Given the description of an element on the screen output the (x, y) to click on. 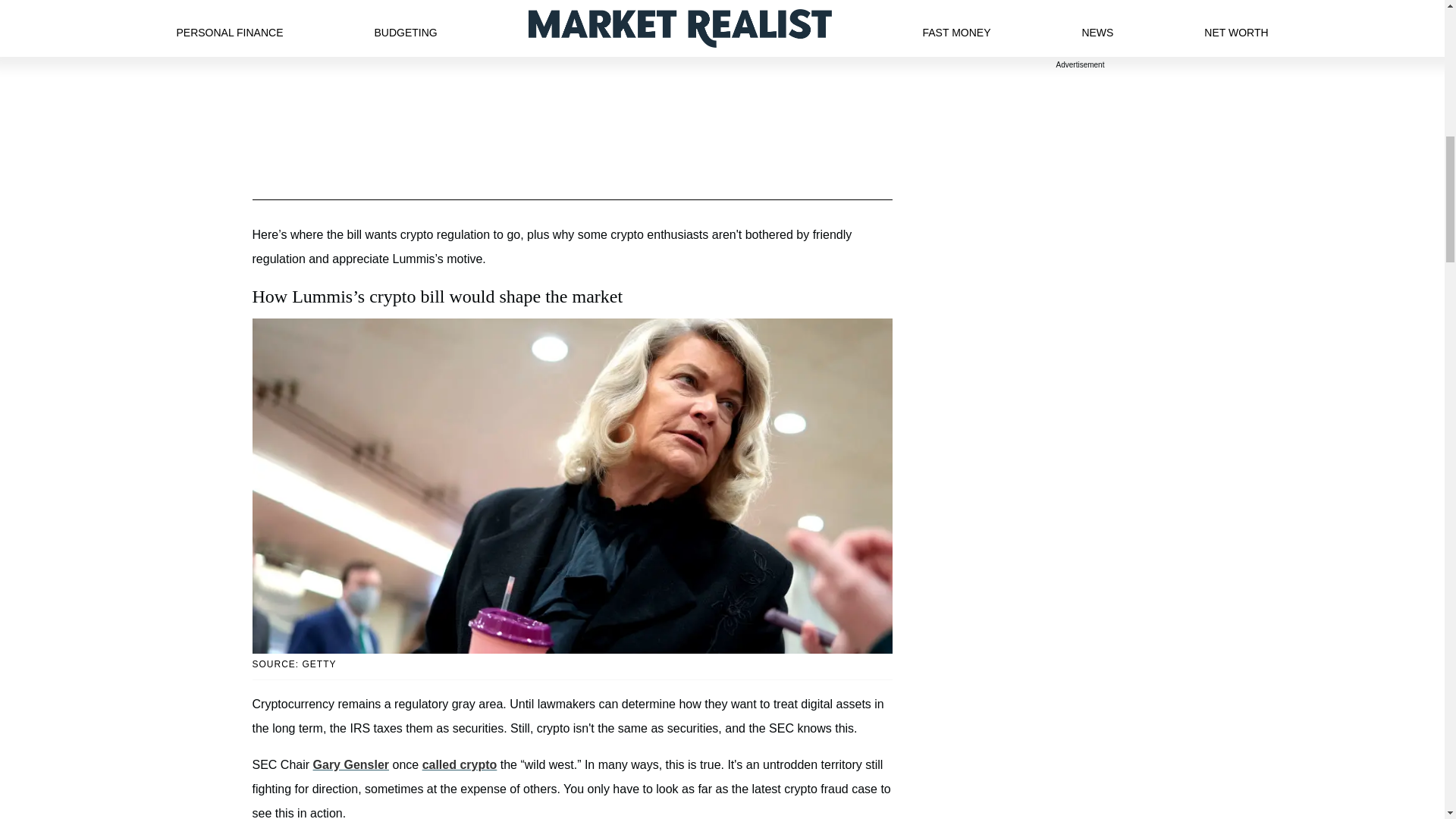
called crypto (459, 764)
Gary Gensler (351, 764)
SOURCE: GETTY (571, 664)
